Given the description of an element on the screen output the (x, y) to click on. 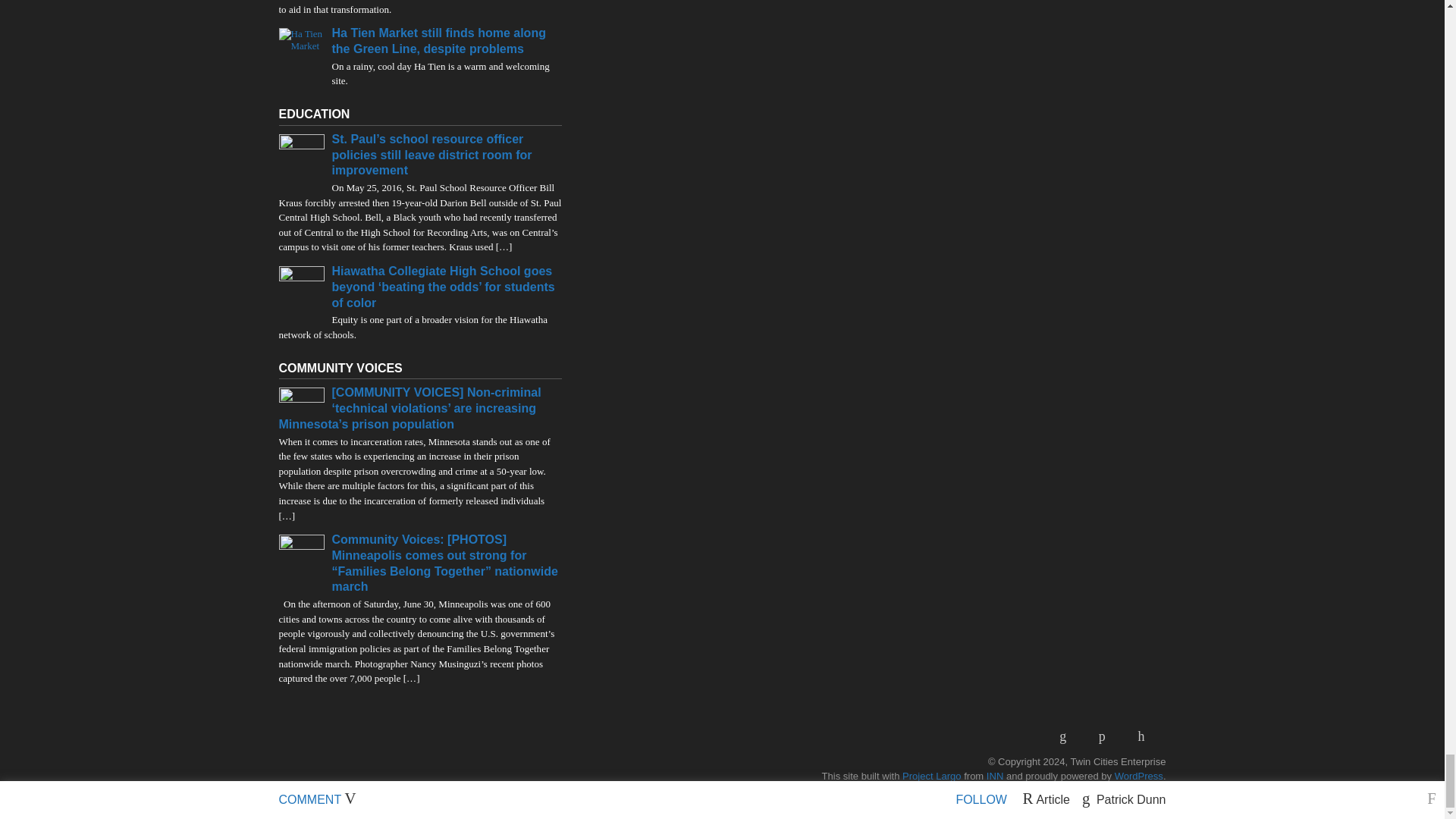
Link to RSS Feed (1067, 735)
Link to Facebook Profile (1106, 735)
Link to Twitter Page (1146, 735)
